Given the description of an element on the screen output the (x, y) to click on. 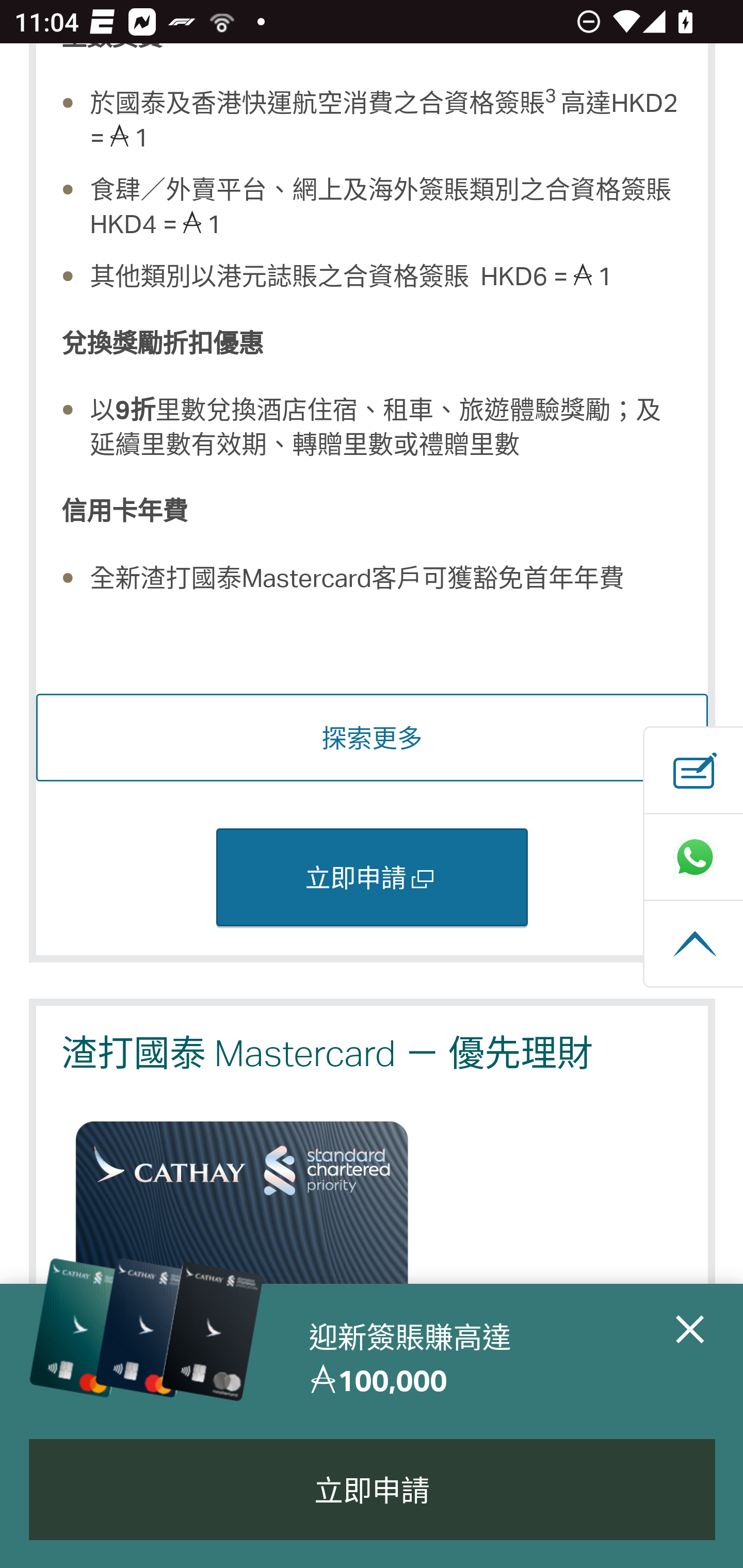
探索更多 (372, 738)
立即申請 開啟新視窗 立即申請 開啟新視窗 (371, 878)
Close (690, 1358)
